Given the description of an element on the screen output the (x, y) to click on. 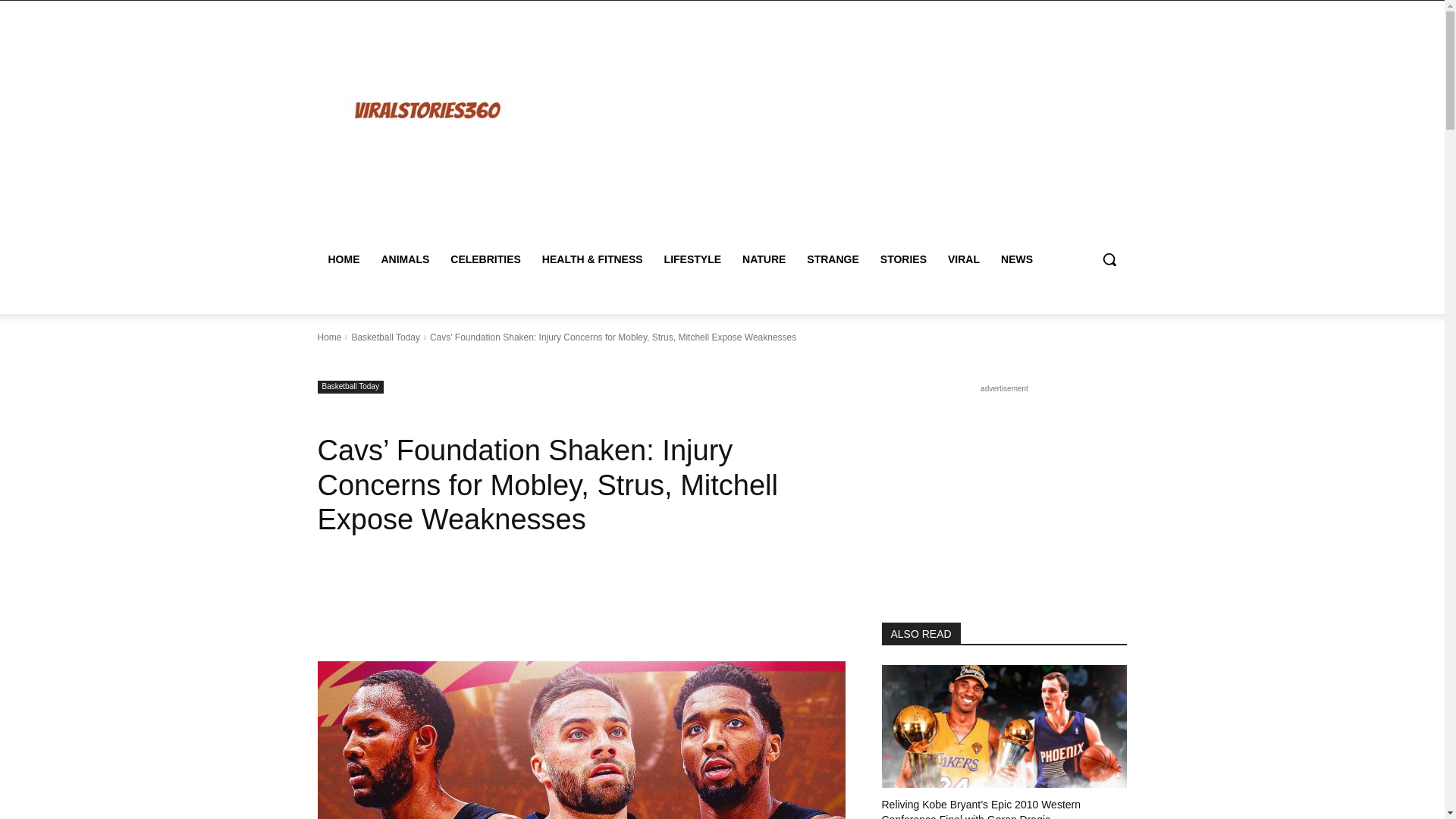
CELEBRITIES (485, 258)
View all posts in Basketball Today (385, 337)
NEWS (1016, 258)
HOME (343, 258)
STRANGE (832, 258)
Basketball Today (349, 386)
Advertisement (854, 128)
LIFESTYLE (692, 258)
Home (328, 337)
ANIMALS (404, 258)
